Given the description of an element on the screen output the (x, y) to click on. 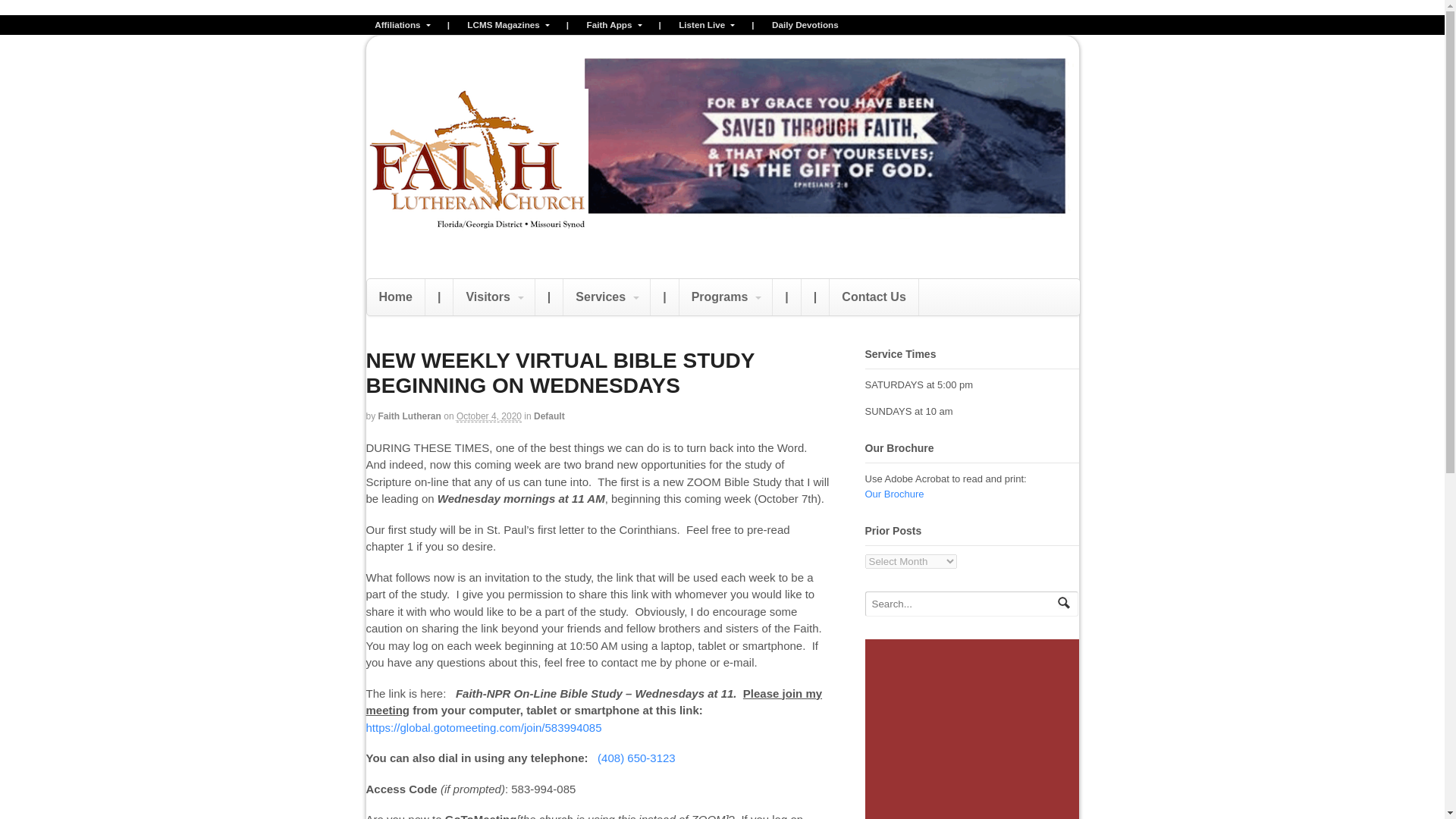
Affiliations (401, 25)
2020-10-04T03:15:20-0400 (489, 416)
Search... (962, 603)
LCMS Magazines (507, 25)
Services (606, 297)
Visitors (493, 297)
Faith Apps (613, 25)
Home (395, 297)
Posts by Faith Lutheran (409, 416)
Faith For The Whole Family. (476, 232)
Daily Devotions (804, 25)
Listen Live (705, 25)
